Given the description of an element on the screen output the (x, y) to click on. 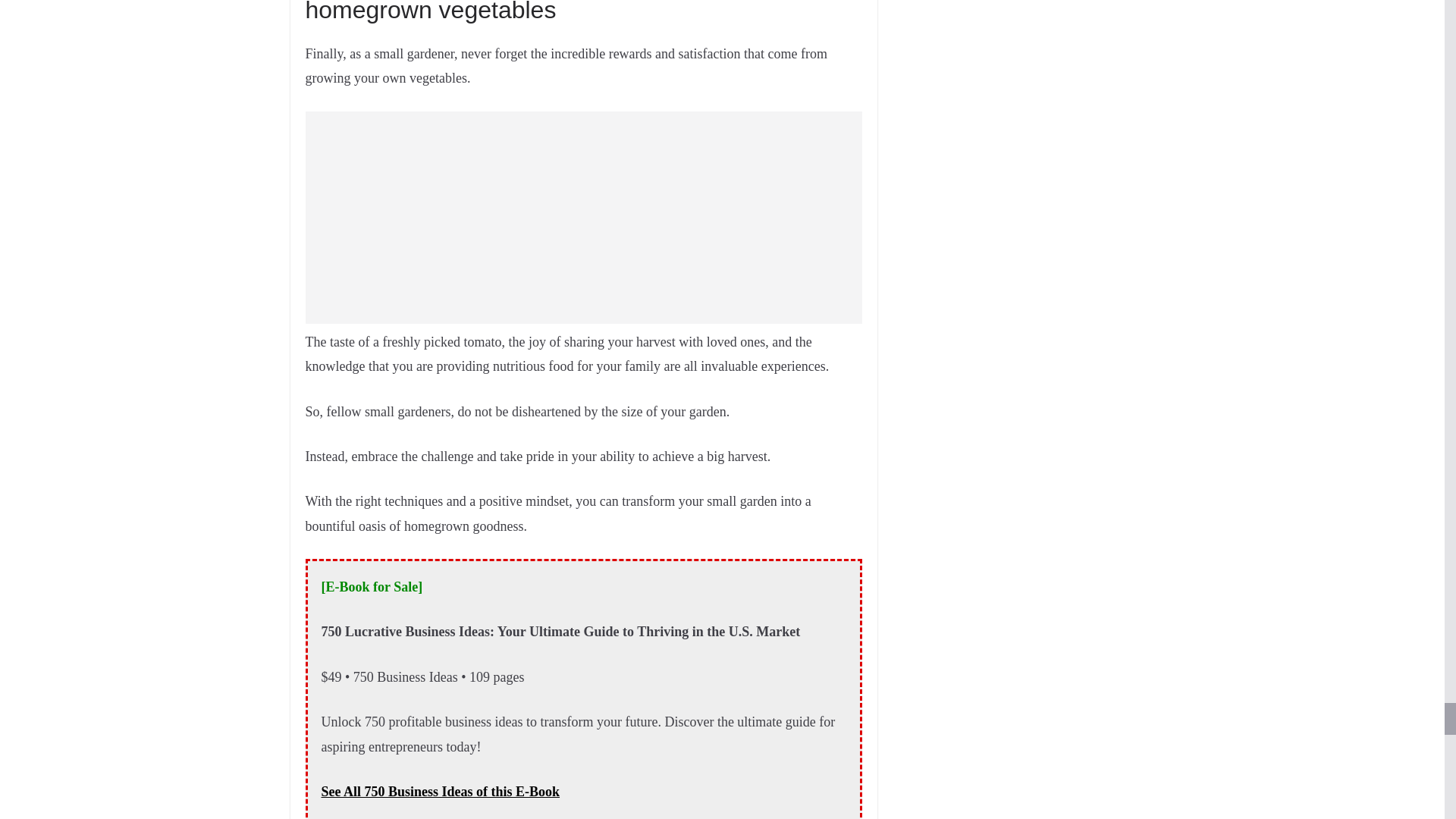
See All 750 Business Ideas of this E-Book (440, 791)
